Given the description of an element on the screen output the (x, y) to click on. 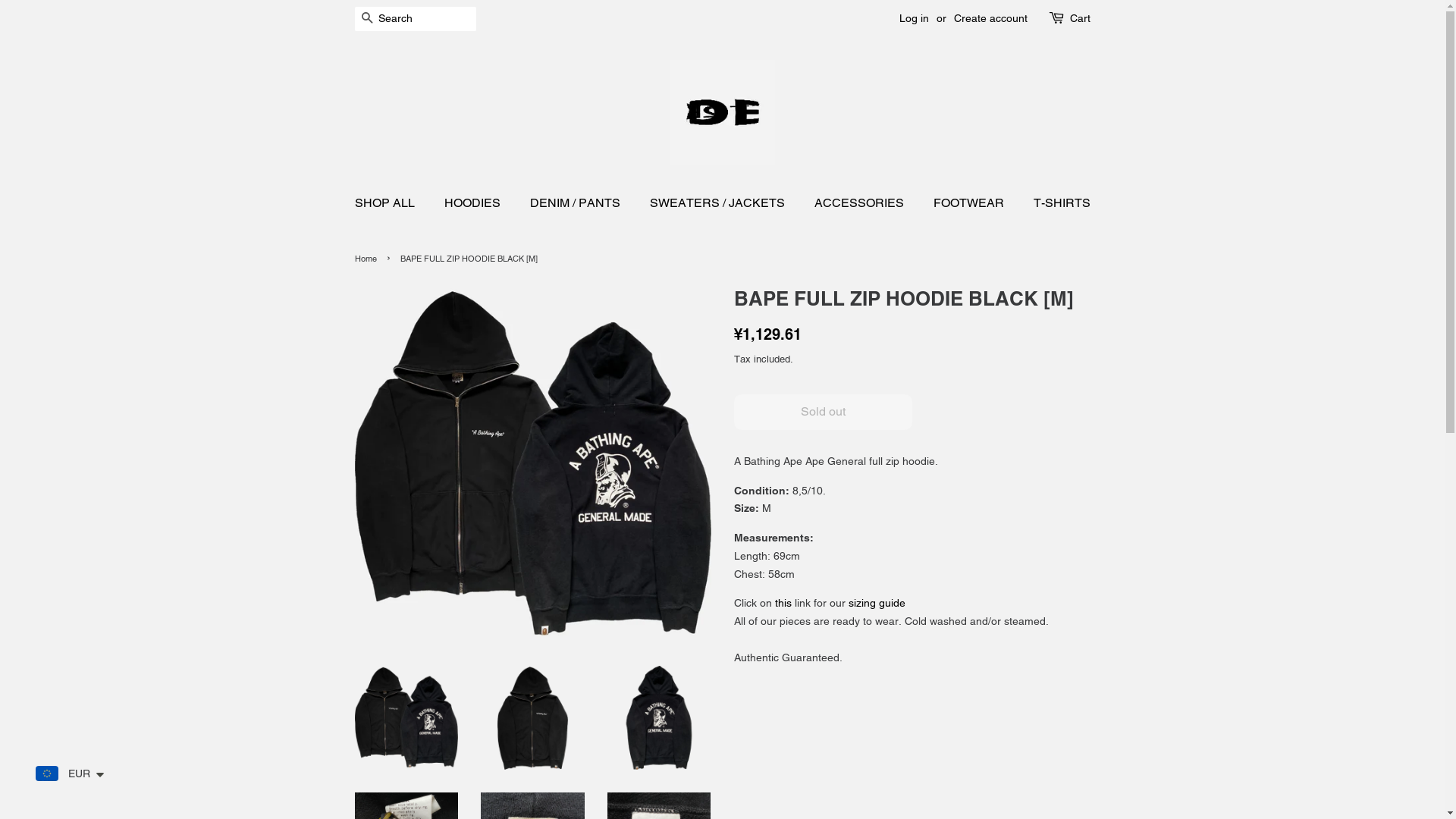
Create account Element type: text (990, 18)
Log in Element type: text (913, 18)
sizing guide Element type: text (875, 602)
Sold out Element type: text (823, 411)
HOODIES Element type: text (473, 202)
SWEATERS / JACKETS Element type: text (719, 202)
ACCESSORIES Element type: text (860, 202)
DENIM / PANTS Element type: text (576, 202)
this Element type: text (783, 602)
Cart Element type: text (1079, 18)
SHOP ALL Element type: text (391, 202)
T-SHIRTS Element type: text (1056, 202)
Home Element type: text (367, 258)
Search Element type: text (366, 18)
FOOTWEAR Element type: text (970, 202)
